Given the description of an element on the screen output the (x, y) to click on. 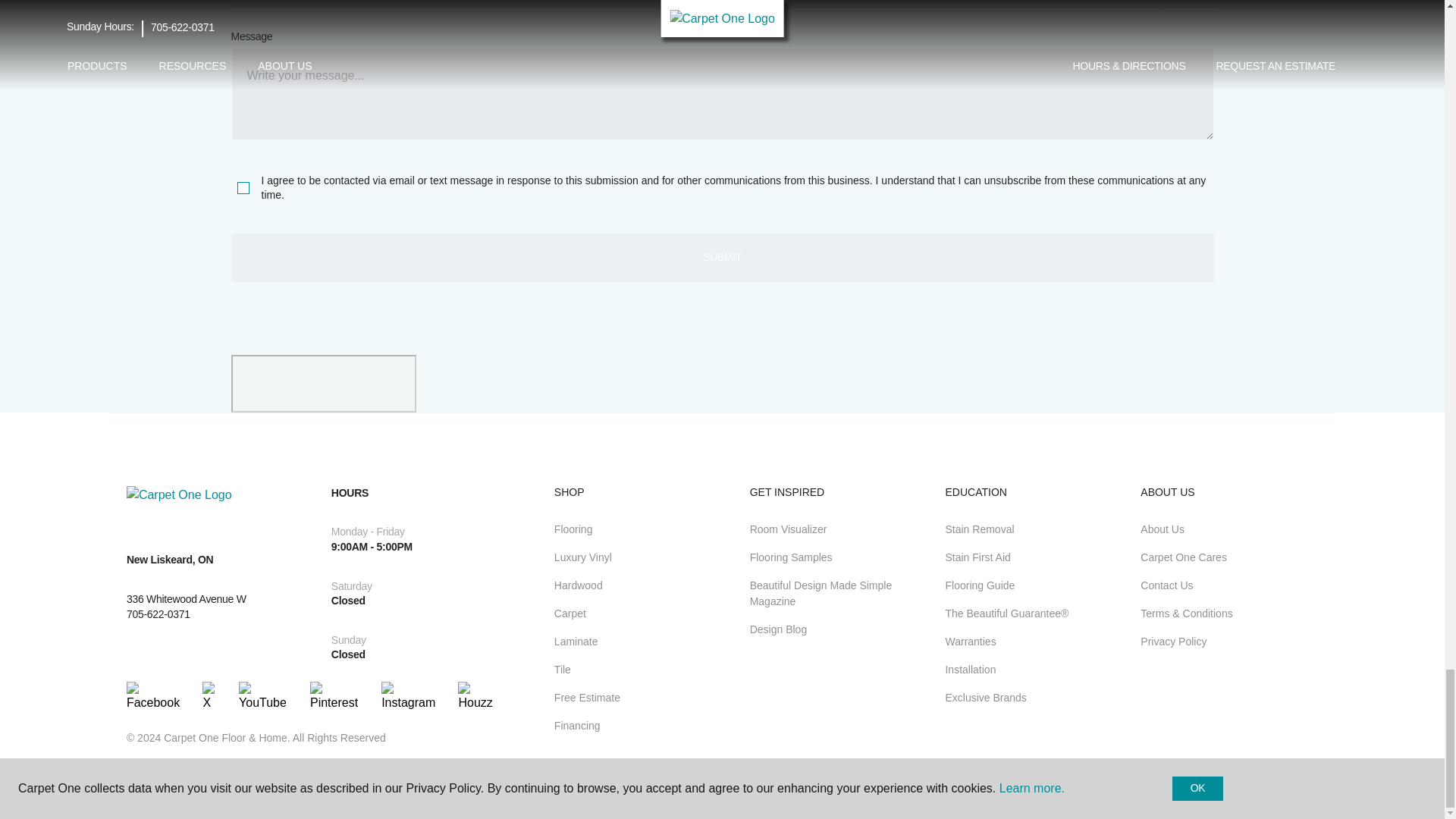
PostalCode (471, 4)
MyMessage (721, 93)
